Given the description of an element on the screen output the (x, y) to click on. 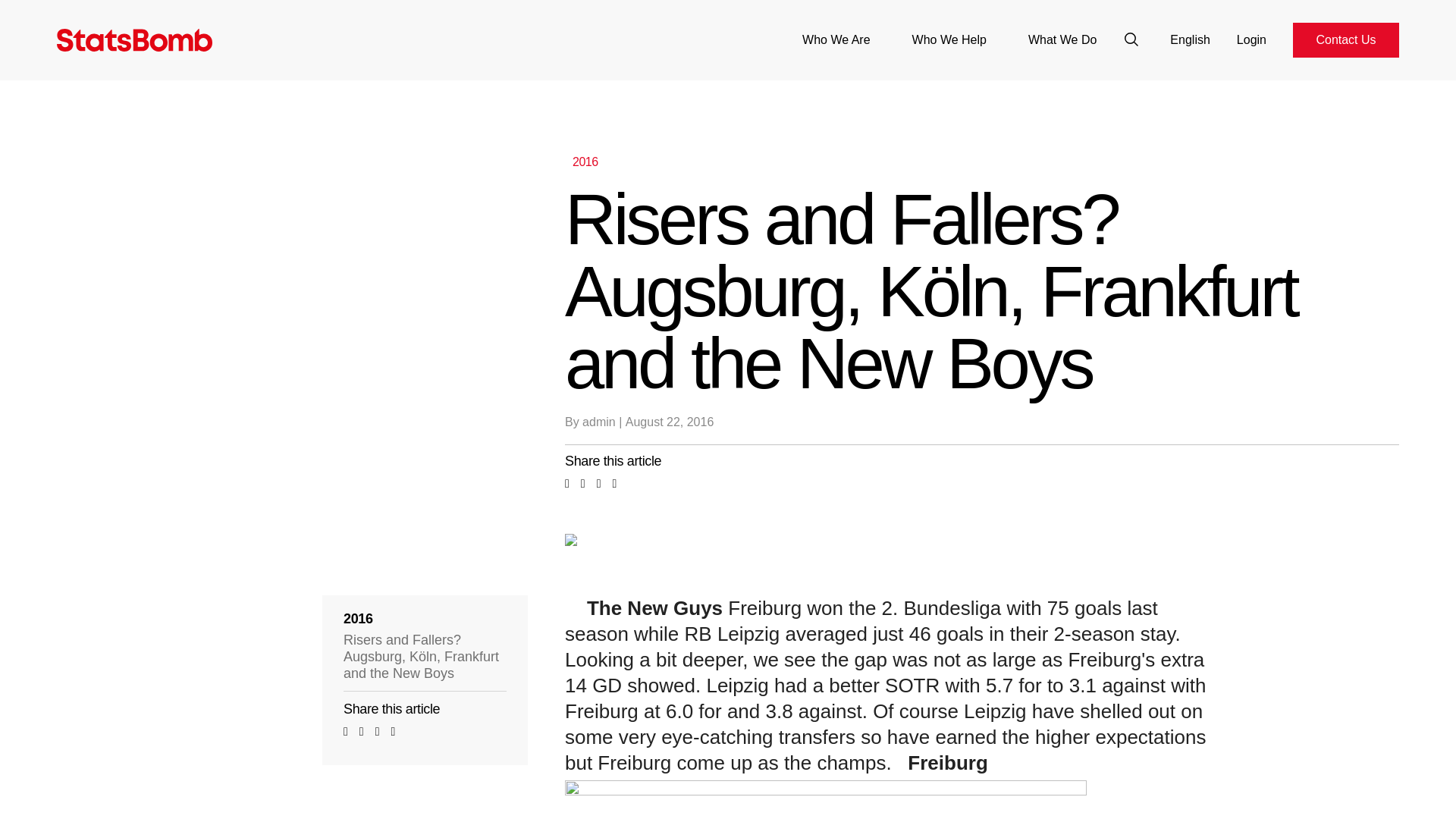
Login (1251, 39)
Who We Are (836, 39)
Contact Us (1345, 39)
Who We Help (949, 39)
What We Do (1061, 39)
